Given the description of an element on the screen output the (x, y) to click on. 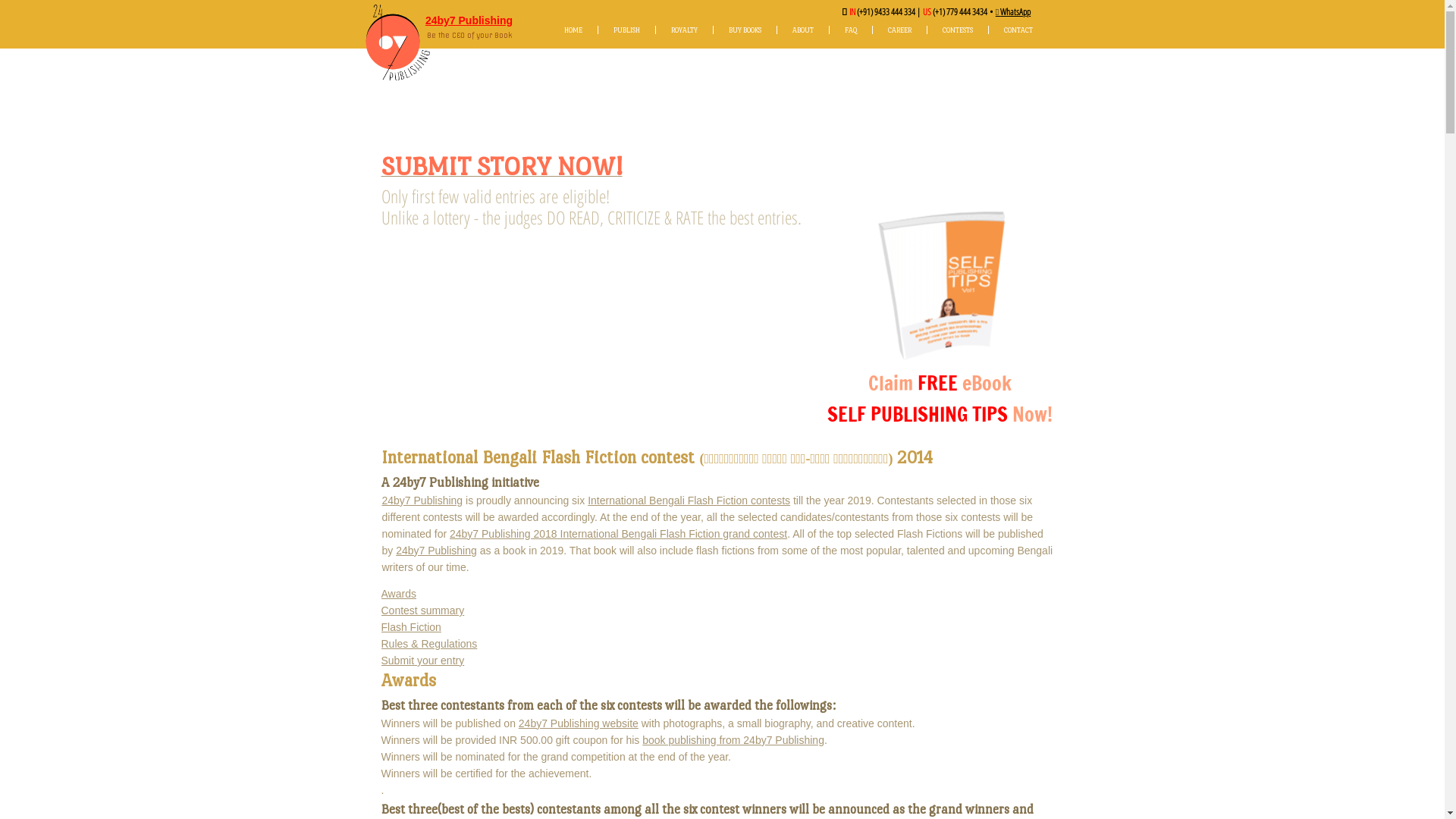
24by7 Publishing Element type: text (435, 550)
International Bengali Flash Fiction contests Element type: text (688, 500)
book publishing from 24by7 Publishing Element type: text (733, 740)
Flash Fiction Element type: text (410, 627)
24by7 Publishing Element type: text (468, 20)
CAREER Element type: text (899, 29)
PUBLISH Element type: text (626, 29)
SUBMIT STORY NOW! Element type: text (500, 171)
Submit your entry Element type: text (422, 660)
ABOUT Element type: text (802, 29)
HOME Element type: text (573, 29)
Contest summary Element type: text (422, 610)
FAQ Element type: text (850, 29)
Rules & Regulations Element type: text (428, 643)
BUY BOOKS Element type: text (744, 29)
CONTACT Element type: text (1018, 29)
ROYALTY Element type: text (683, 29)
WhatsApp Element type: text (1015, 11)
Awards Element type: text (397, 593)
CONTESTS Element type: text (957, 29)
24by7 Publishing Element type: text (421, 500)
24by7 Publishing website Element type: text (578, 723)
